Given the description of an element on the screen output the (x, y) to click on. 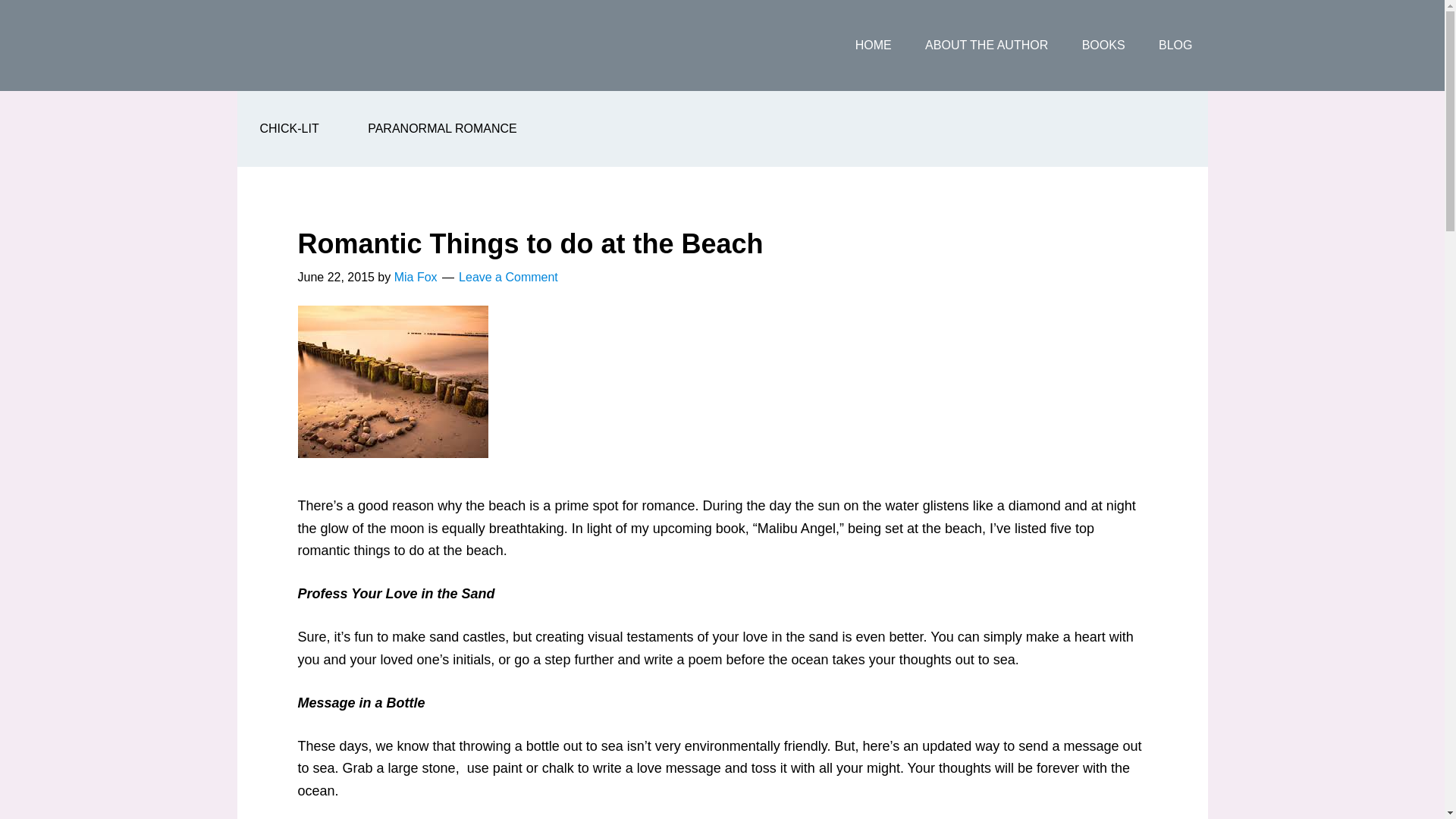
Leave a Comment (507, 277)
Mia Fox (416, 277)
PARANORMAL ROMANCE (441, 128)
ABOUT THE AUTHOR (986, 45)
CHICK-LIT (287, 128)
